Given the description of an element on the screen output the (x, y) to click on. 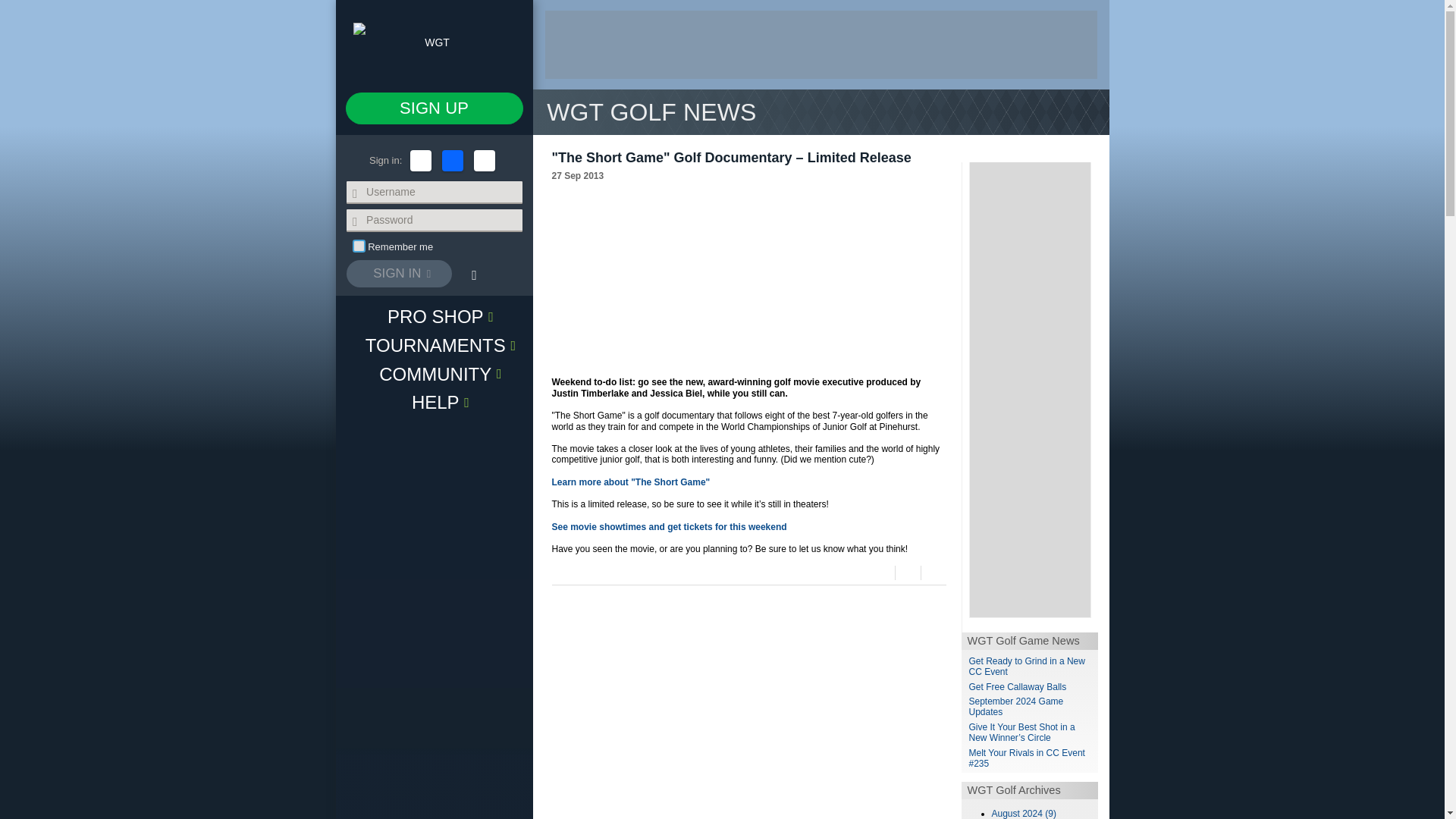
PRO SHOP (433, 316)
TOURNAMENTS (433, 344)
SIGN IN (398, 273)
Forgot your password? (473, 275)
HELP (433, 401)
Home (434, 44)
SIGN UP (434, 108)
Reddit (906, 572)
Sign in with Google (484, 160)
Sign in with Apple (420, 160)
